Given the description of an element on the screen output the (x, y) to click on. 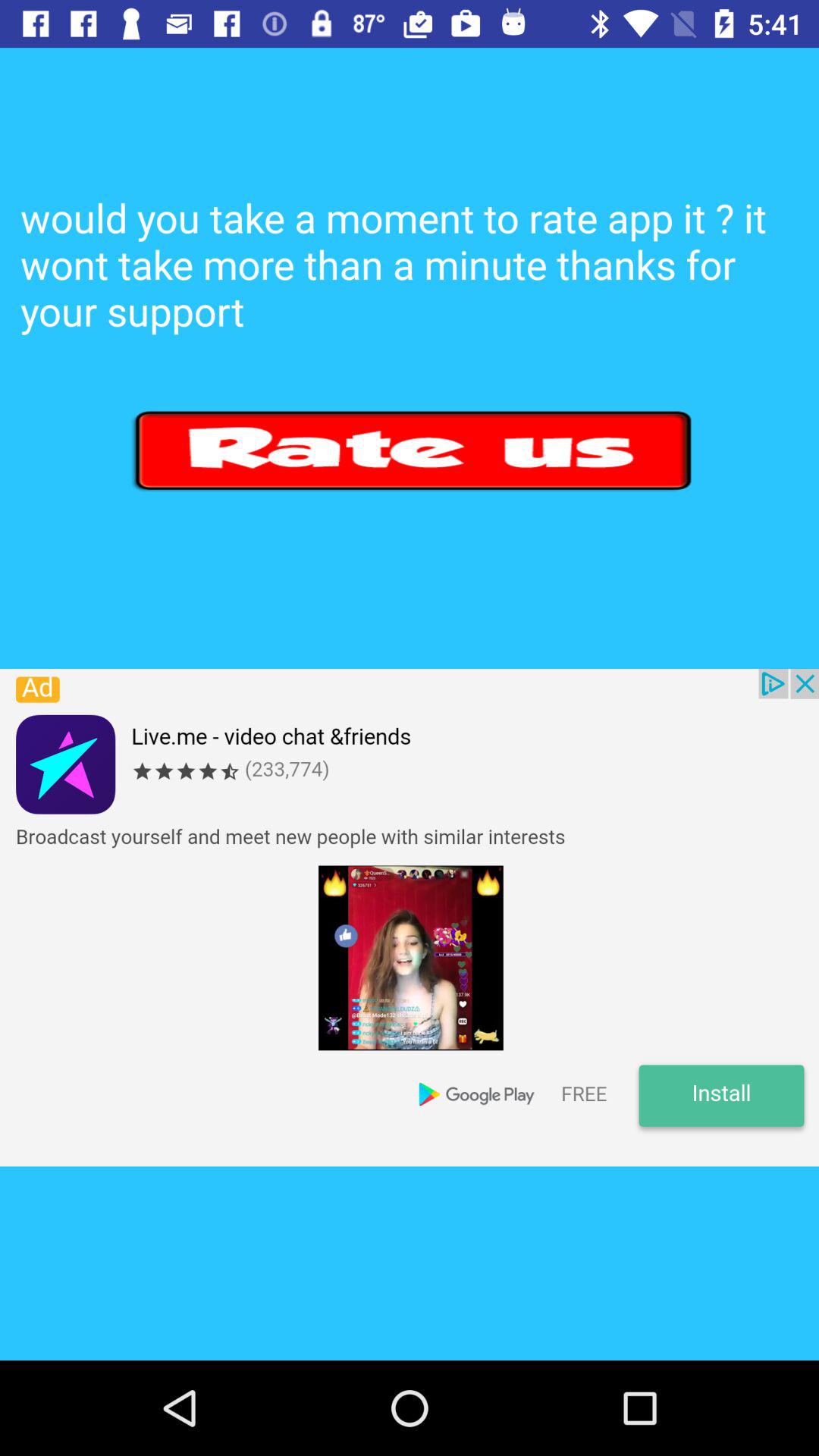
advertisement banner (409, 917)
